Given the description of an element on the screen output the (x, y) to click on. 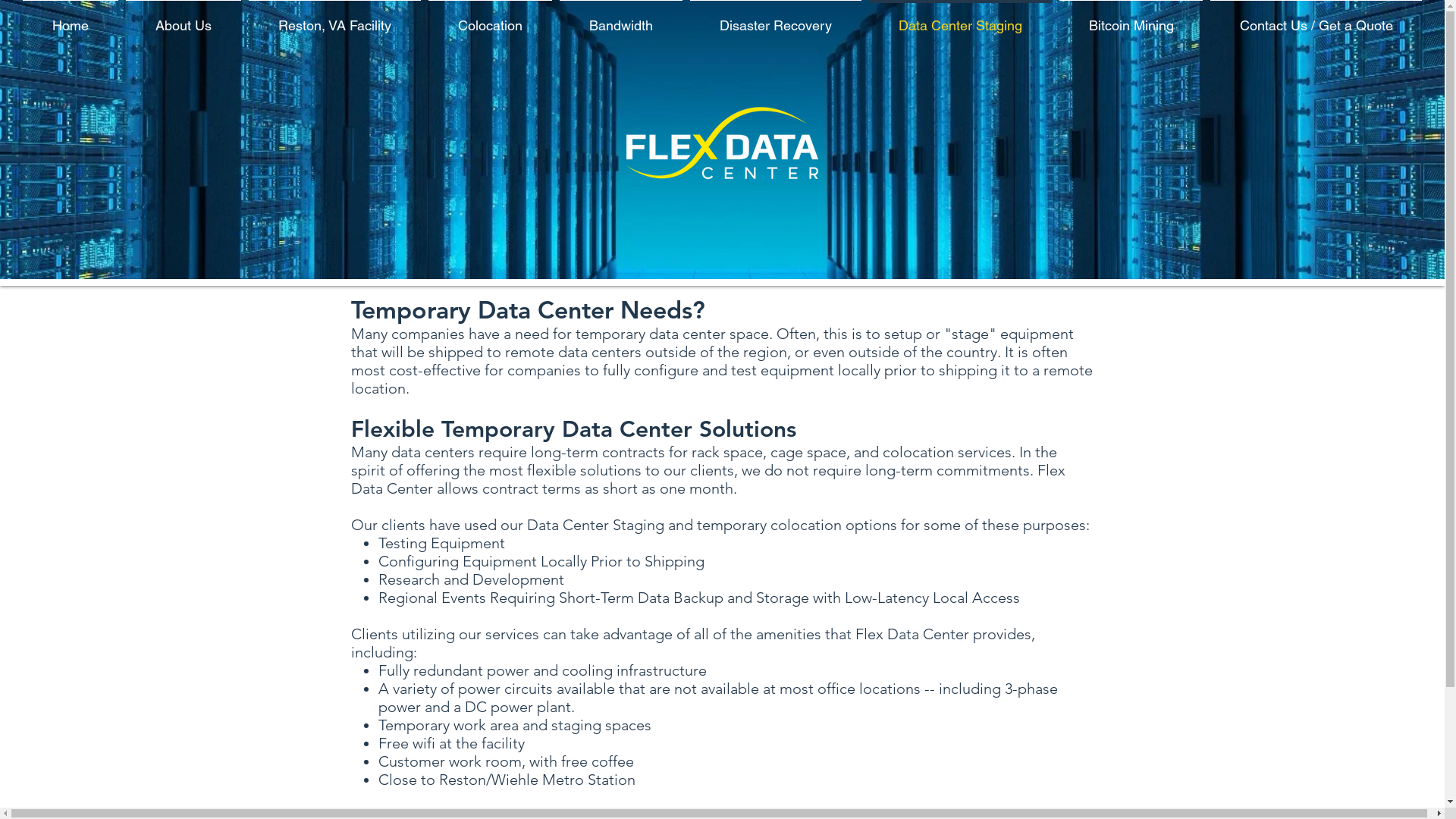
Bitcoin Mining Element type: text (1130, 18)
About Us Element type: text (183, 18)
Bandwidth Element type: text (620, 18)
Contact Us / Get a Quote Element type: text (1315, 18)
Disaster Recovery Element type: text (775, 18)
Home Element type: text (70, 18)
Colocation Element type: text (489, 18)
Data Center Staging Element type: text (960, 18)
Reston, VA Facility Element type: text (334, 18)
